Given the description of an element on the screen output the (x, y) to click on. 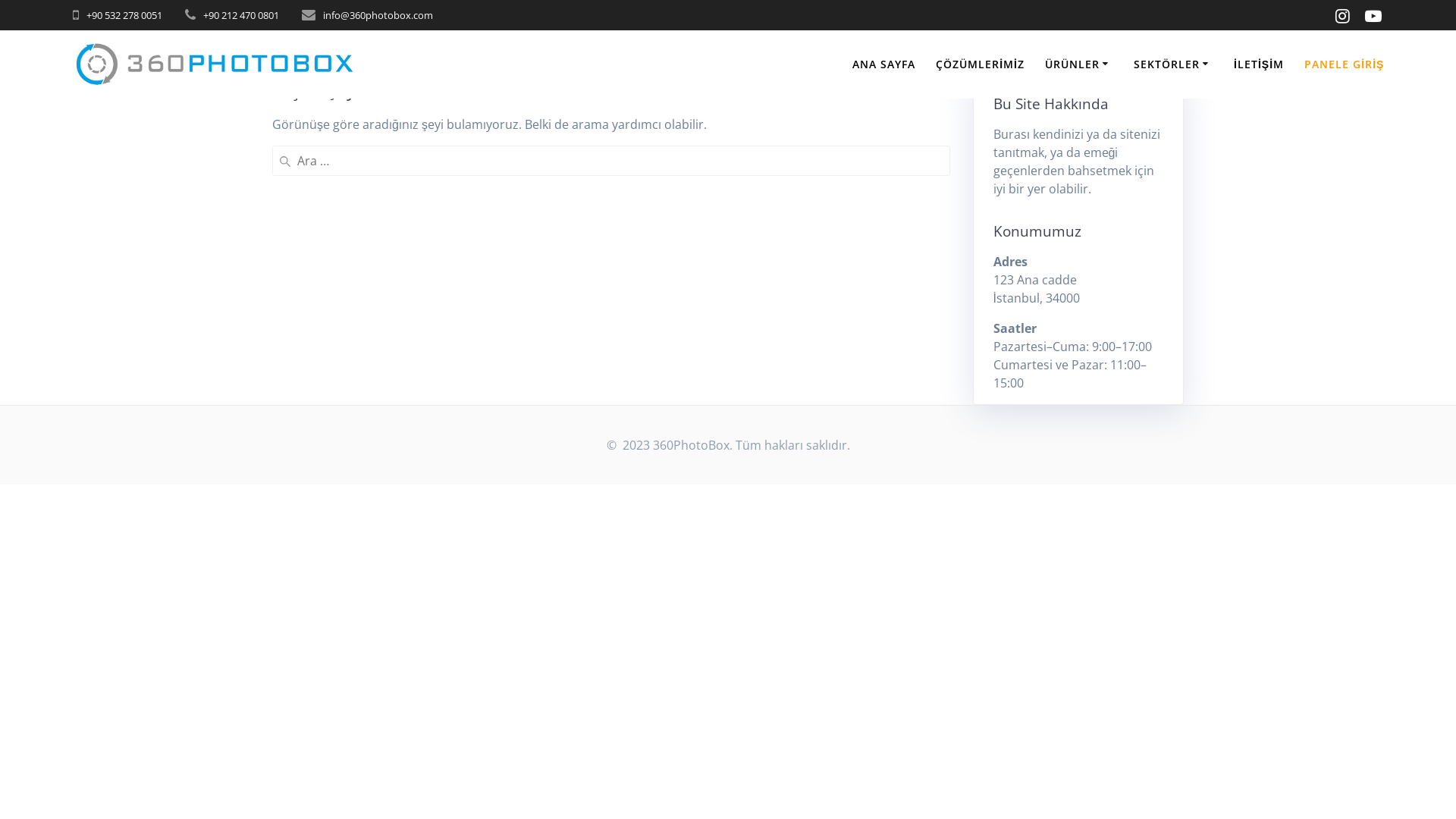
ANA SAYFA Element type: text (883, 64)
